Given the description of an element on the screen output the (x, y) to click on. 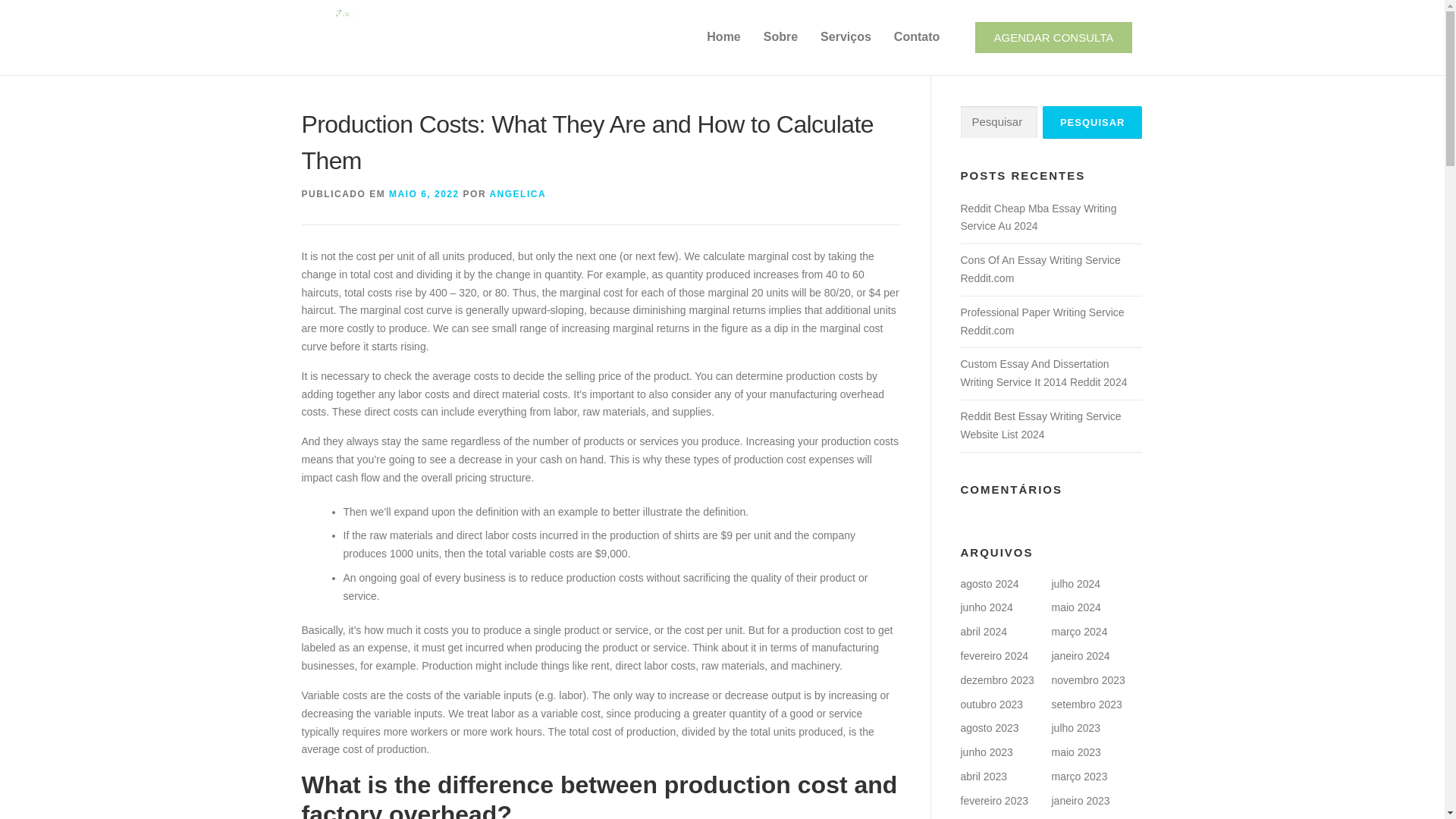
MAIO 6, 2022 (424, 194)
Pesquisar (1092, 122)
fevereiro 2023 (993, 800)
setembro 2023 (1086, 704)
Pesquisar (1092, 122)
janeiro 2023 (1080, 800)
fevereiro 2024 (993, 655)
agosto 2023 (988, 727)
Contato (916, 36)
abril 2023 (983, 776)
